Given the description of an element on the screen output the (x, y) to click on. 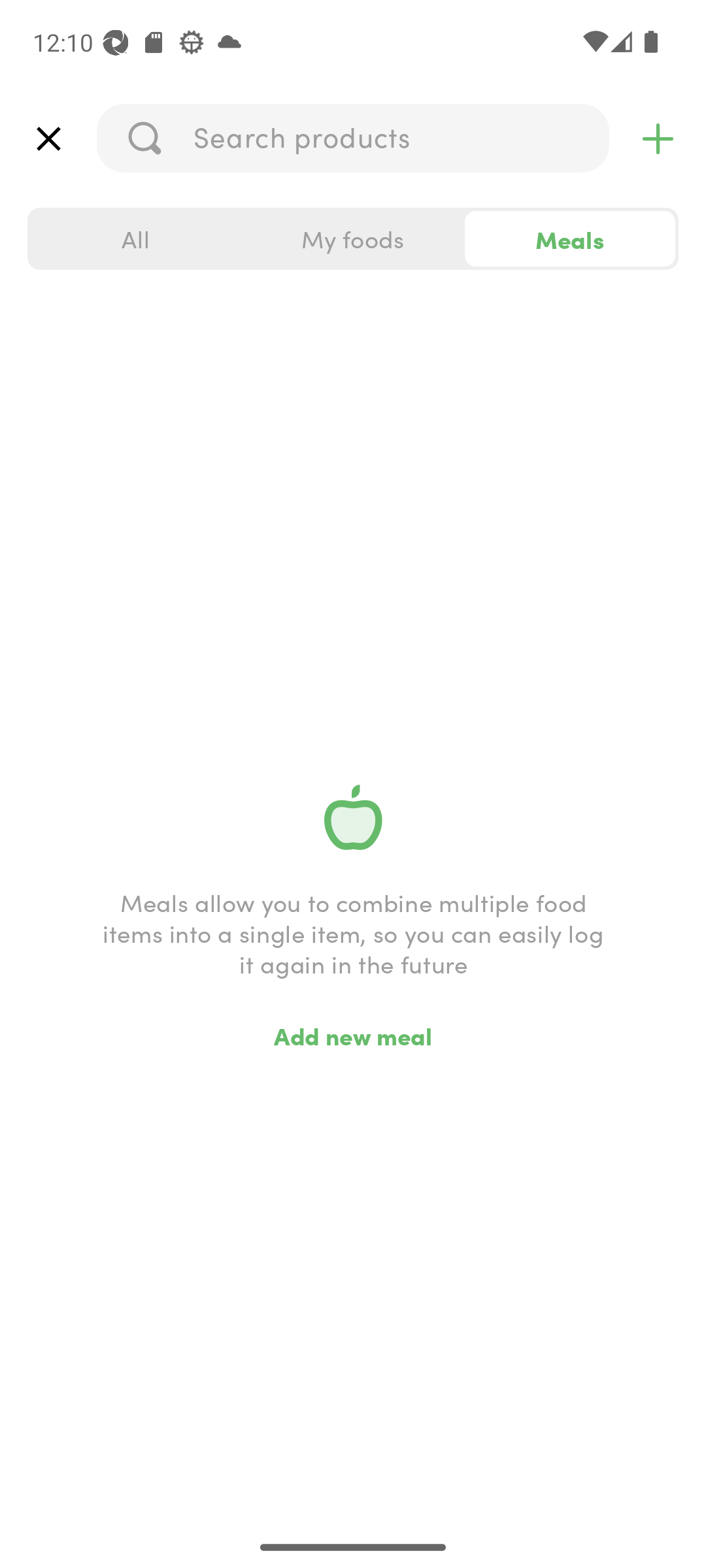
top_left_action (48, 138)
top_right_action (658, 138)
All (136, 238)
My foods (352, 238)
Add new meal (352, 1035)
